Given the description of an element on the screen output the (x, y) to click on. 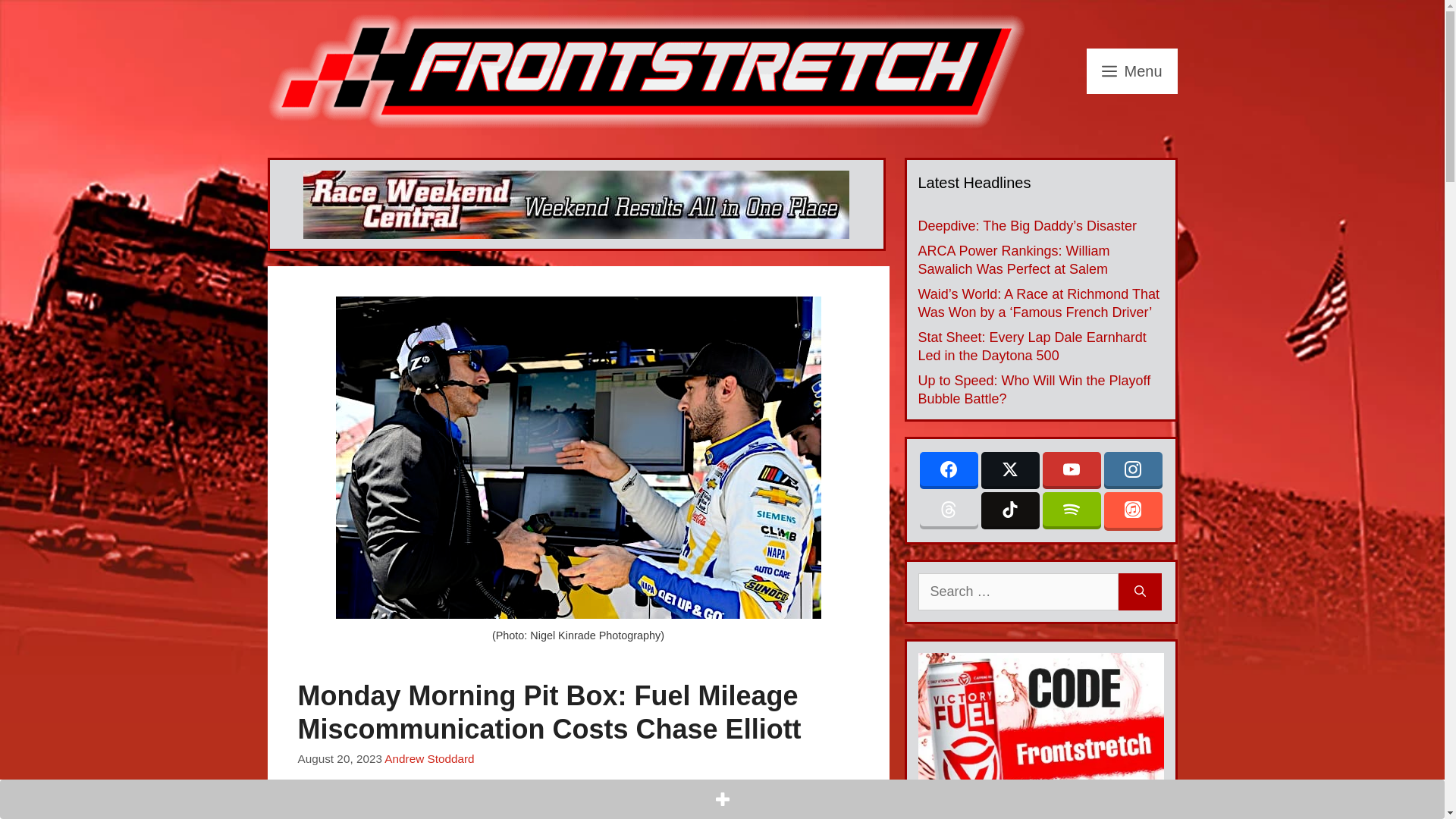
Share on Reddit (376, 809)
Search for: (1017, 591)
Share on Comments (475, 809)
Share on Facebook (311, 809)
Share on Twitter (344, 809)
Share on Email (410, 809)
Share on Copy Link (442, 809)
Andrew Stoddard (429, 758)
Menu (1131, 71)
